Given the description of an element on the screen output the (x, y) to click on. 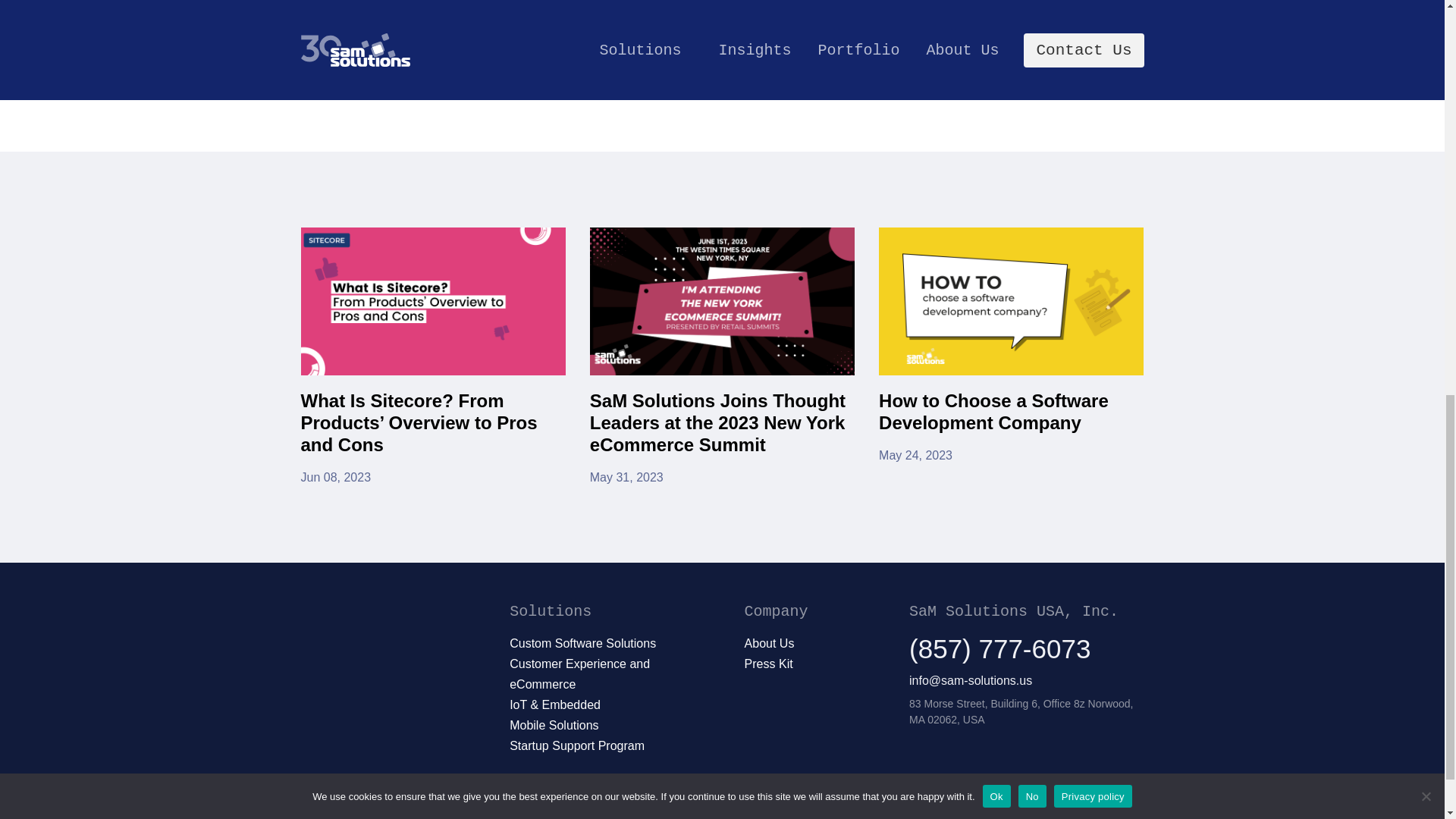
Mobile Solutions (553, 725)
Custom Software Solutions (582, 643)
Customer Experience and eCommerce (1010, 356)
